Given the description of an element on the screen output the (x, y) to click on. 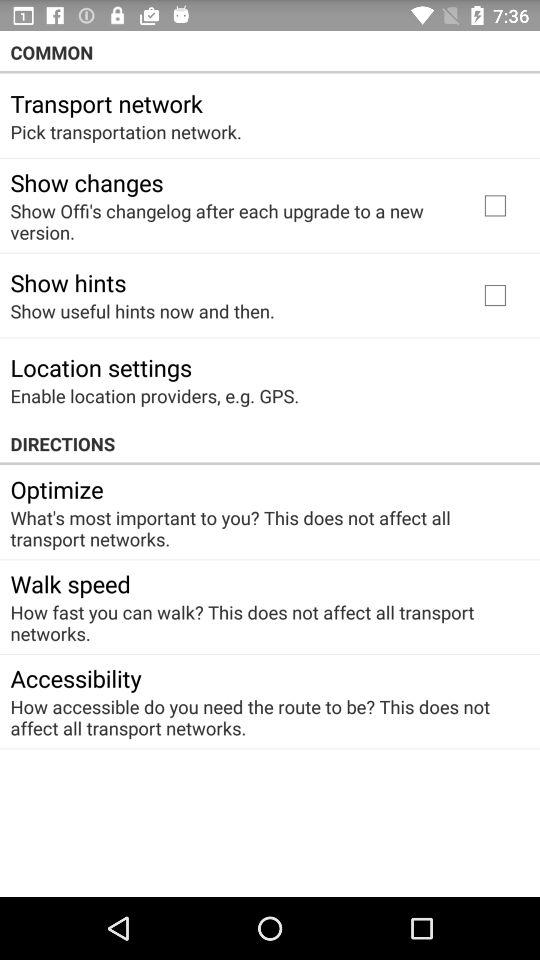
turn on the show offi s (231, 221)
